Given the description of an element on the screen output the (x, y) to click on. 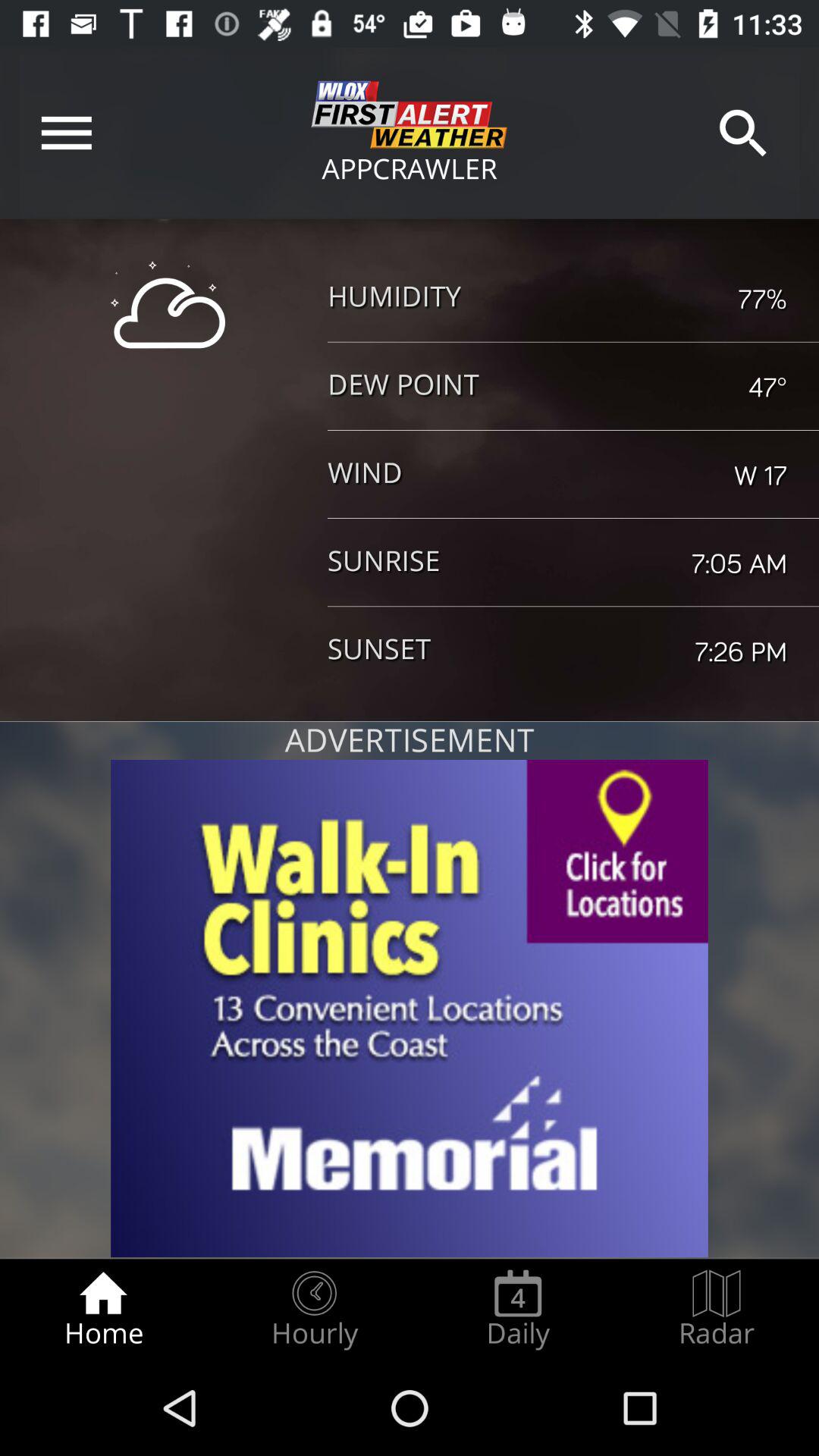
select the daily calender at the bottom of the page (518, 1309)
click on top right icon of the page (743, 133)
